Given the description of an element on the screen output the (x, y) to click on. 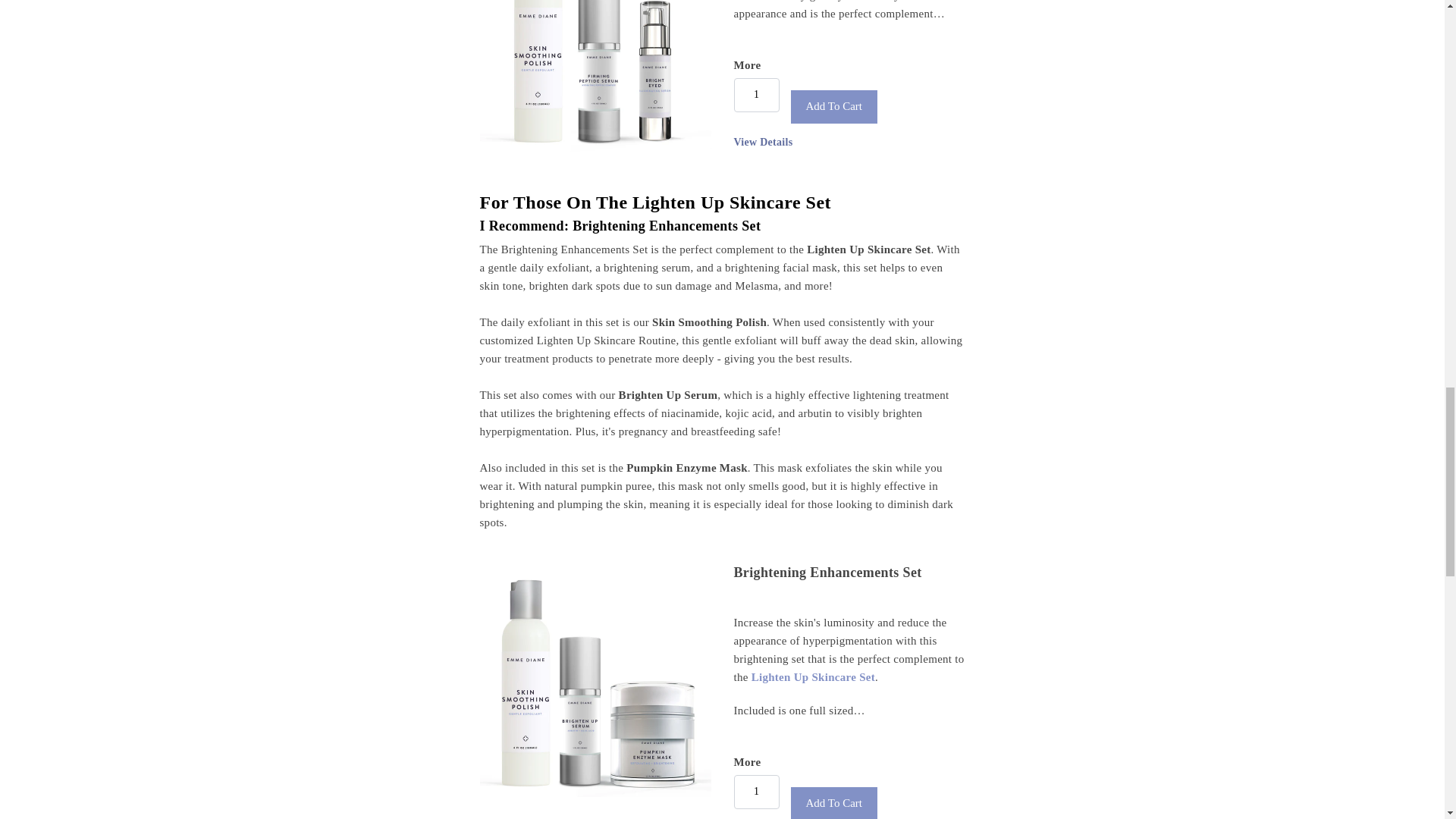
Lighten Up Skincare Set (811, 676)
1 (755, 94)
1 (755, 791)
